Given the description of an element on the screen output the (x, y) to click on. 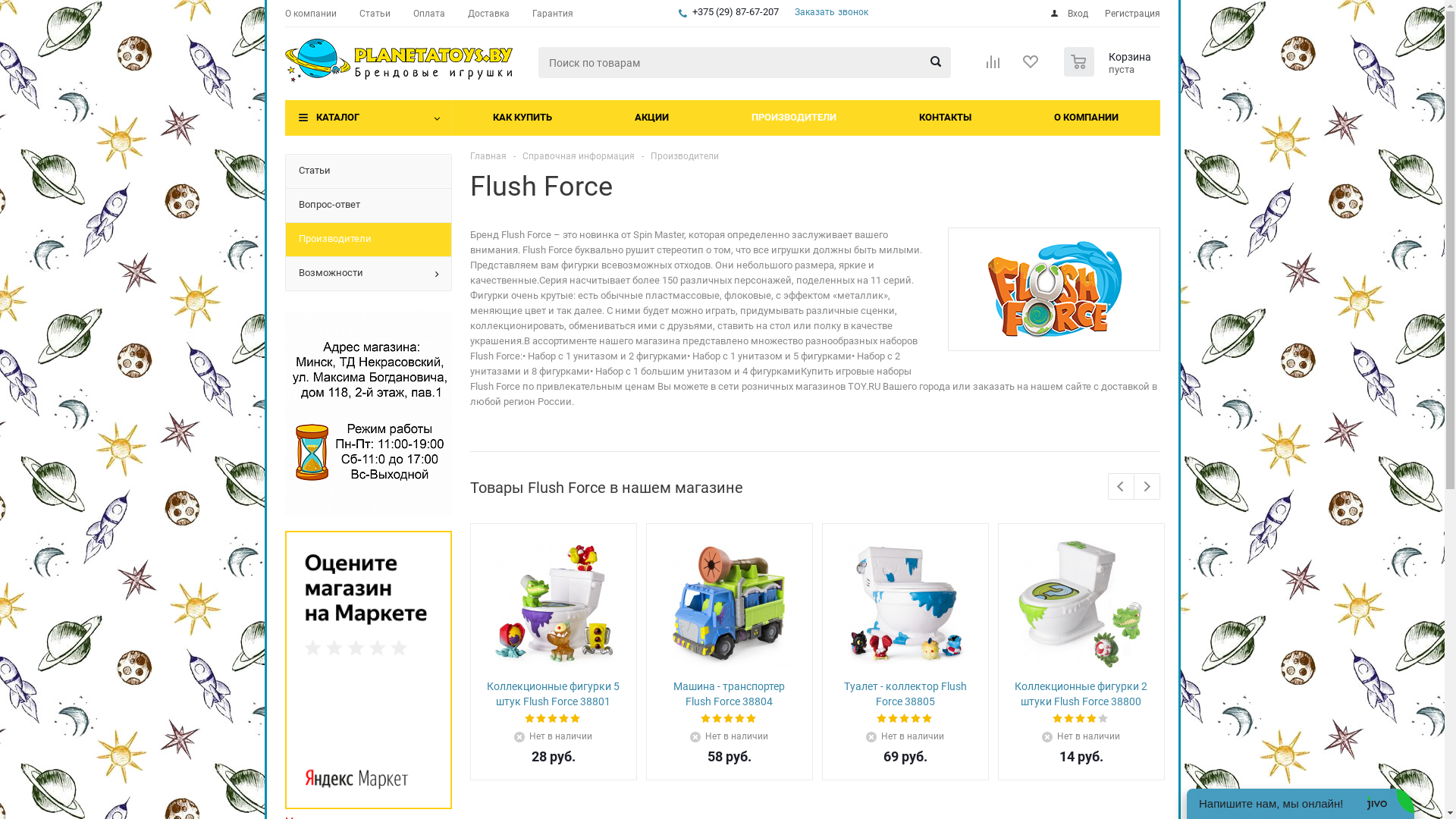
2 Element type: hover (893, 718)
2 Element type: hover (1069, 718)
1 Element type: hover (706, 718)
2 Element type: hover (541, 718)
3 Element type: hover (904, 718)
5 Element type: hover (1103, 718)
Next Element type: text (1146, 485)
3 Element type: hover (1080, 718)
1 Element type: hover (882, 718)
5 Element type: hover (927, 718)
4 Element type: hover (1092, 718)
1 Element type: hover (1057, 718)
Flush Force Element type: hover (1053, 290)
+375 (29) 87-67-207 Element type: text (735, 11)
Previous Element type: text (1120, 485)
5 Element type: hover (751, 718)
3 Element type: hover (728, 718)
1 Element type: hover (530, 718)
2 Element type: hover (717, 718)
4 Element type: hover (740, 718)
4 Element type: hover (916, 718)
3 Element type: hover (552, 718)
4 Element type: hover (564, 718)
5 Element type: hover (575, 718)
